Given the description of an element on the screen output the (x, y) to click on. 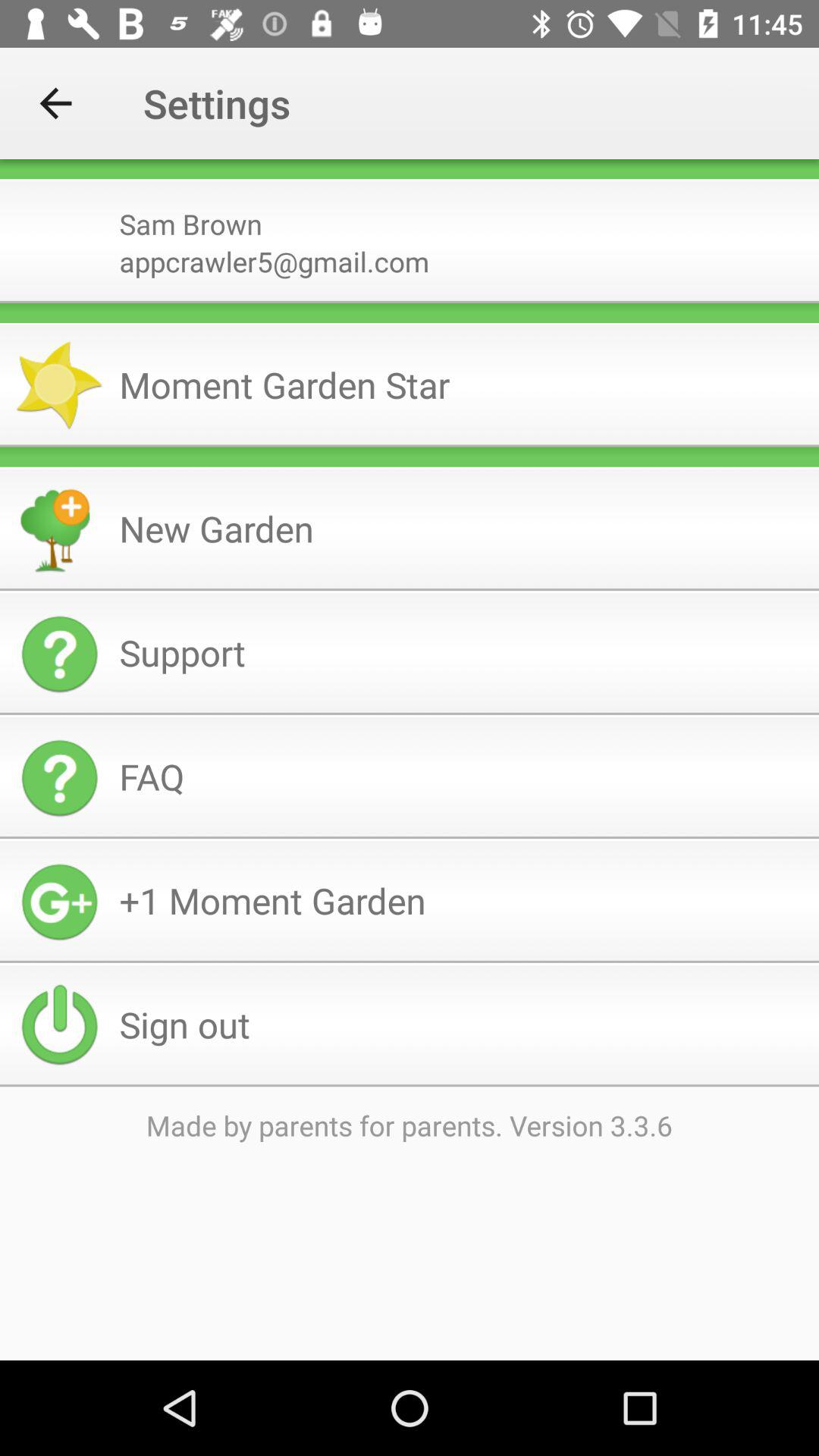
swipe to the faq icon (463, 776)
